Given the description of an element on the screen output the (x, y) to click on. 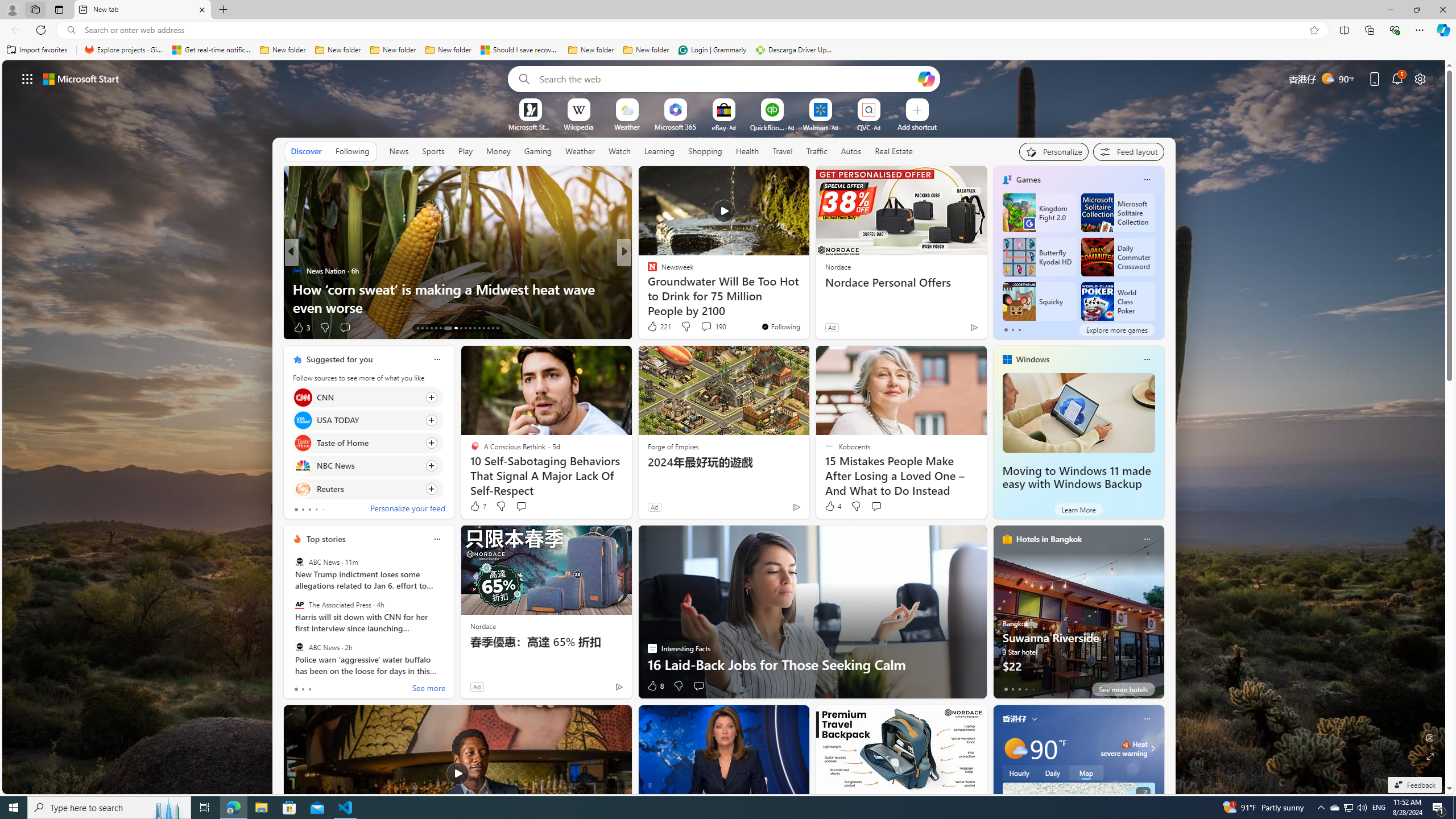
17 Signs Someone Is A Classless Adult (807, 307)
AutomationID: tab-15 (426, 328)
Craft Your Happy Place (647, 288)
Feed settings (1128, 151)
Close (1442, 9)
Games (1028, 179)
My location (1033, 718)
Explore more games (1116, 329)
Tab actions menu (58, 9)
See more (617, 719)
Workspaces (34, 9)
Suwanna Riverside (1078, 616)
Personalize your feed" (1054, 151)
PCMag (647, 270)
Enter your search term (726, 78)
